Given the description of an element on the screen output the (x, y) to click on. 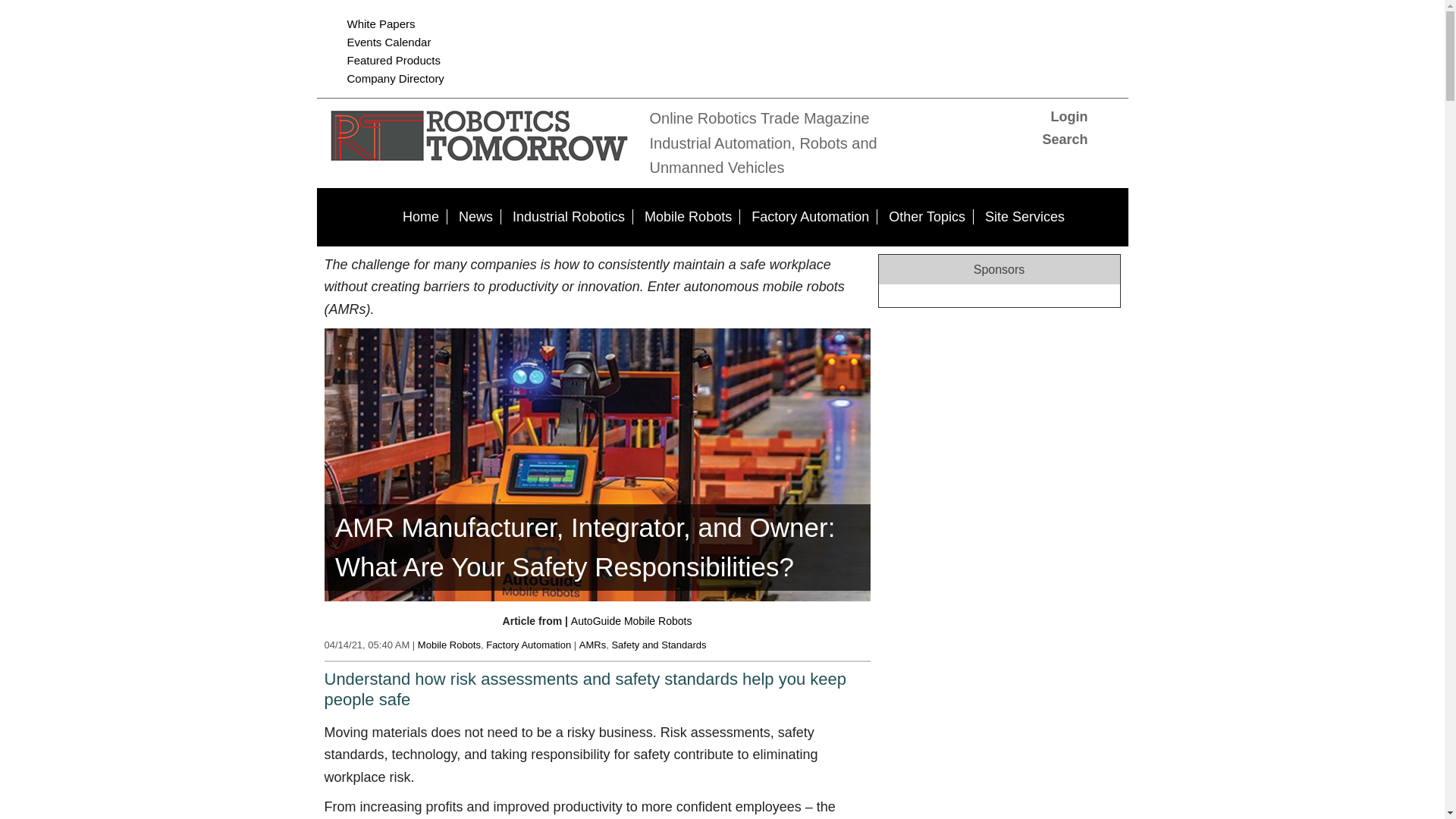
Mobile Robots (688, 217)
AMRs (592, 644)
Safety and Standards (658, 644)
Other Topics (926, 217)
Home (420, 217)
Industrial Robotics (568, 217)
Mobile Robots (448, 644)
Factory Automation (810, 217)
Site Services (1023, 217)
Events Calendar (388, 42)
